Given the description of an element on the screen output the (x, y) to click on. 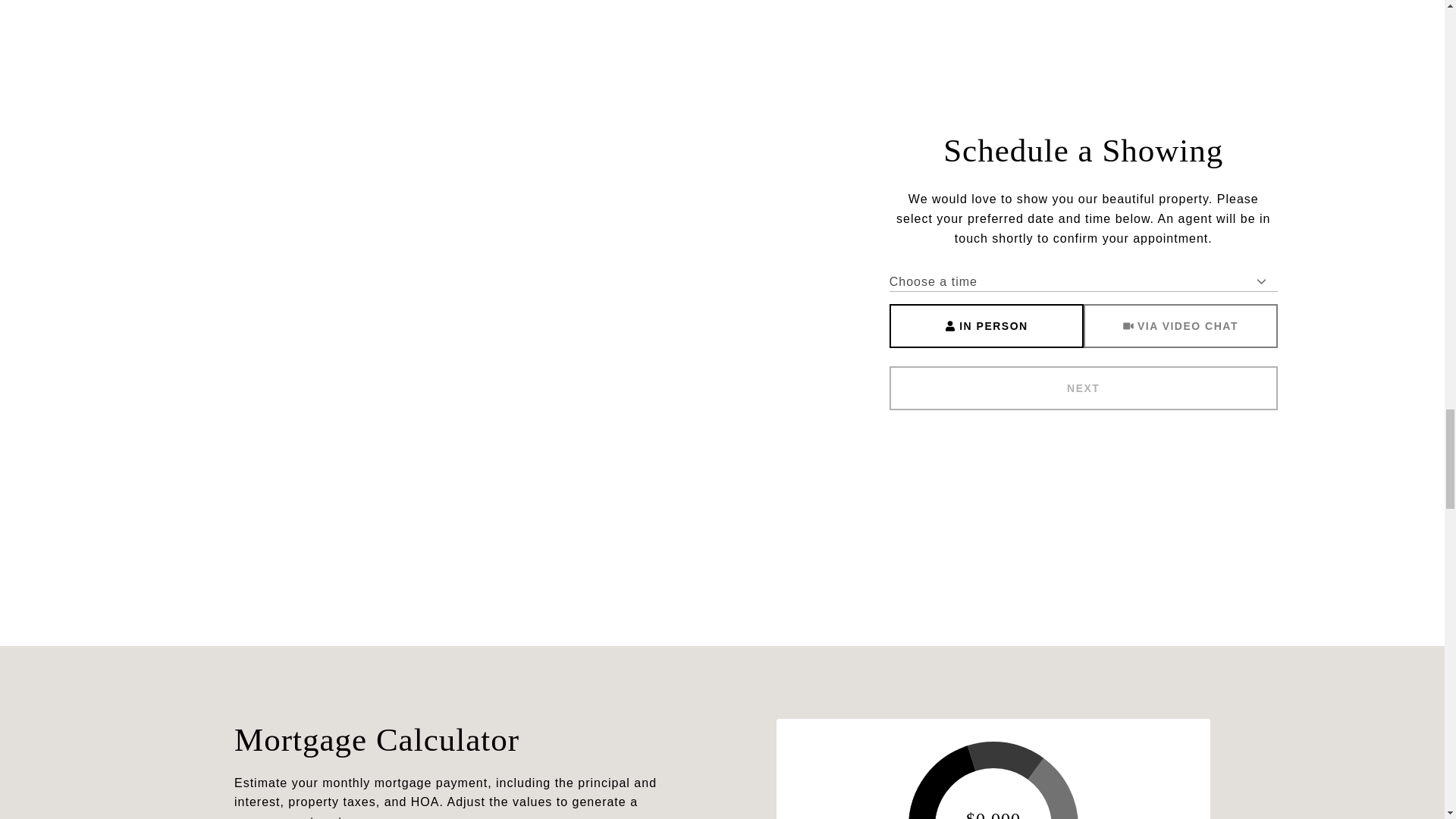
NEXT (1083, 388)
